Given the description of an element on the screen output the (x, y) to click on. 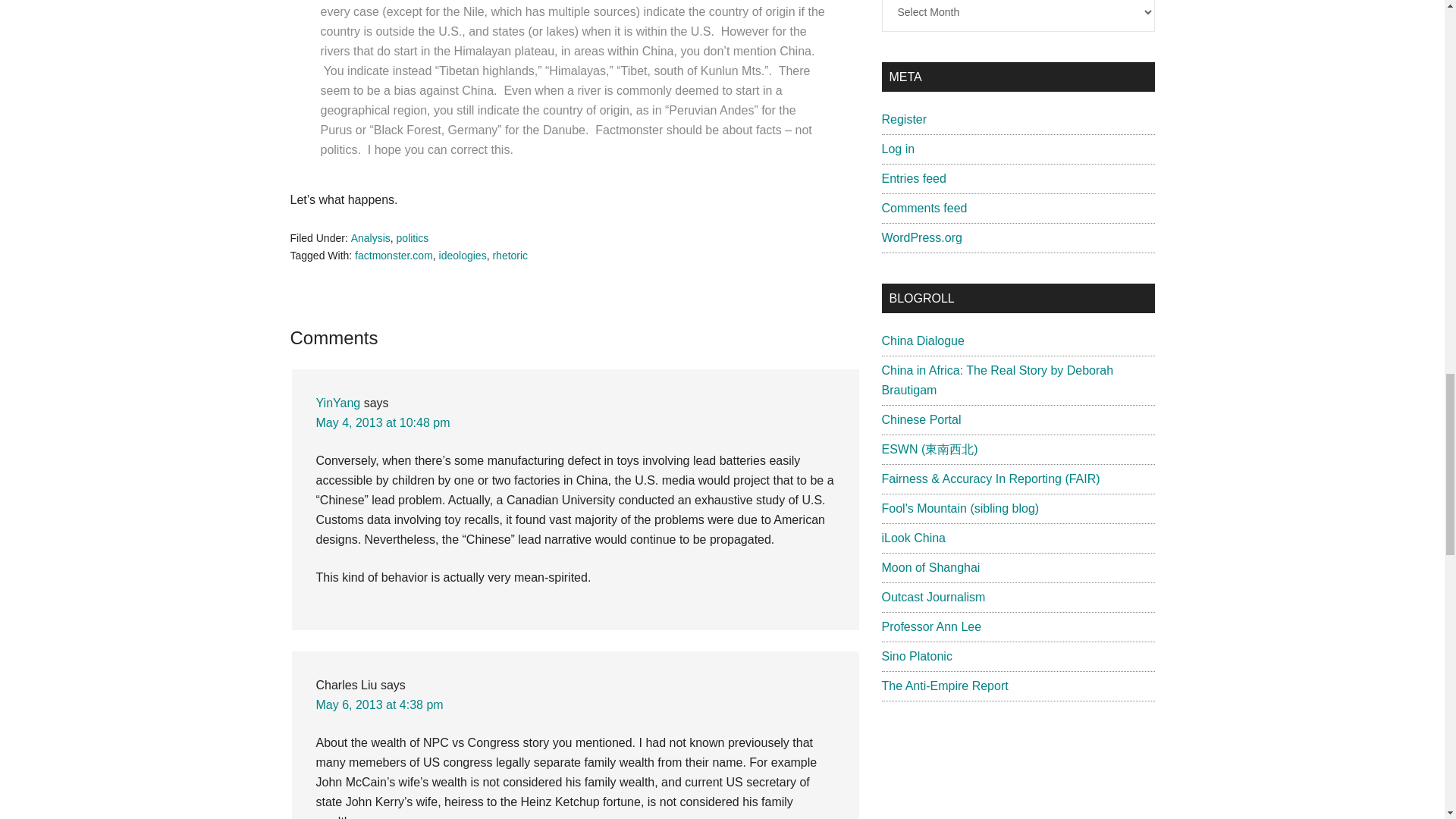
May 6, 2013 at 4:38 pm (378, 704)
rhetoric (509, 255)
May 4, 2013 at 10:48 pm (382, 422)
Analysis (370, 237)
ideologies (462, 255)
politics (412, 237)
factmonster.com (393, 255)
YinYang (337, 402)
